Given the description of an element on the screen output the (x, y) to click on. 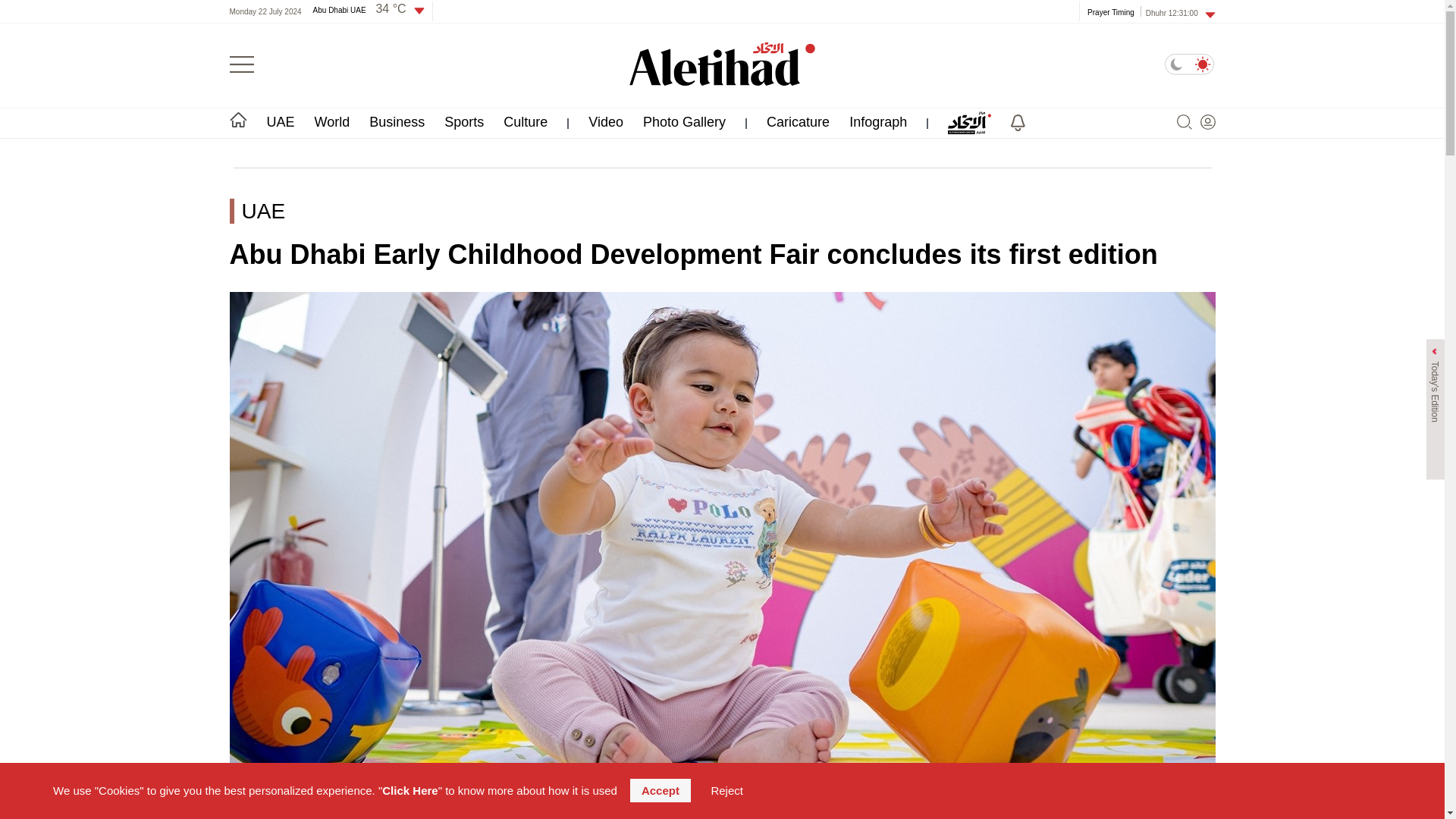
World (332, 122)
Prayer Timing (1110, 11)
Culture (525, 122)
Video (605, 122)
Aletihad Newspaper (721, 63)
Photo Gallery (684, 122)
Sports (463, 122)
Business (397, 122)
Caricature (798, 122)
Dhuhr 12:31:00 (1180, 12)
Infograph (877, 122)
UAE (280, 122)
